Given the description of an element on the screen output the (x, y) to click on. 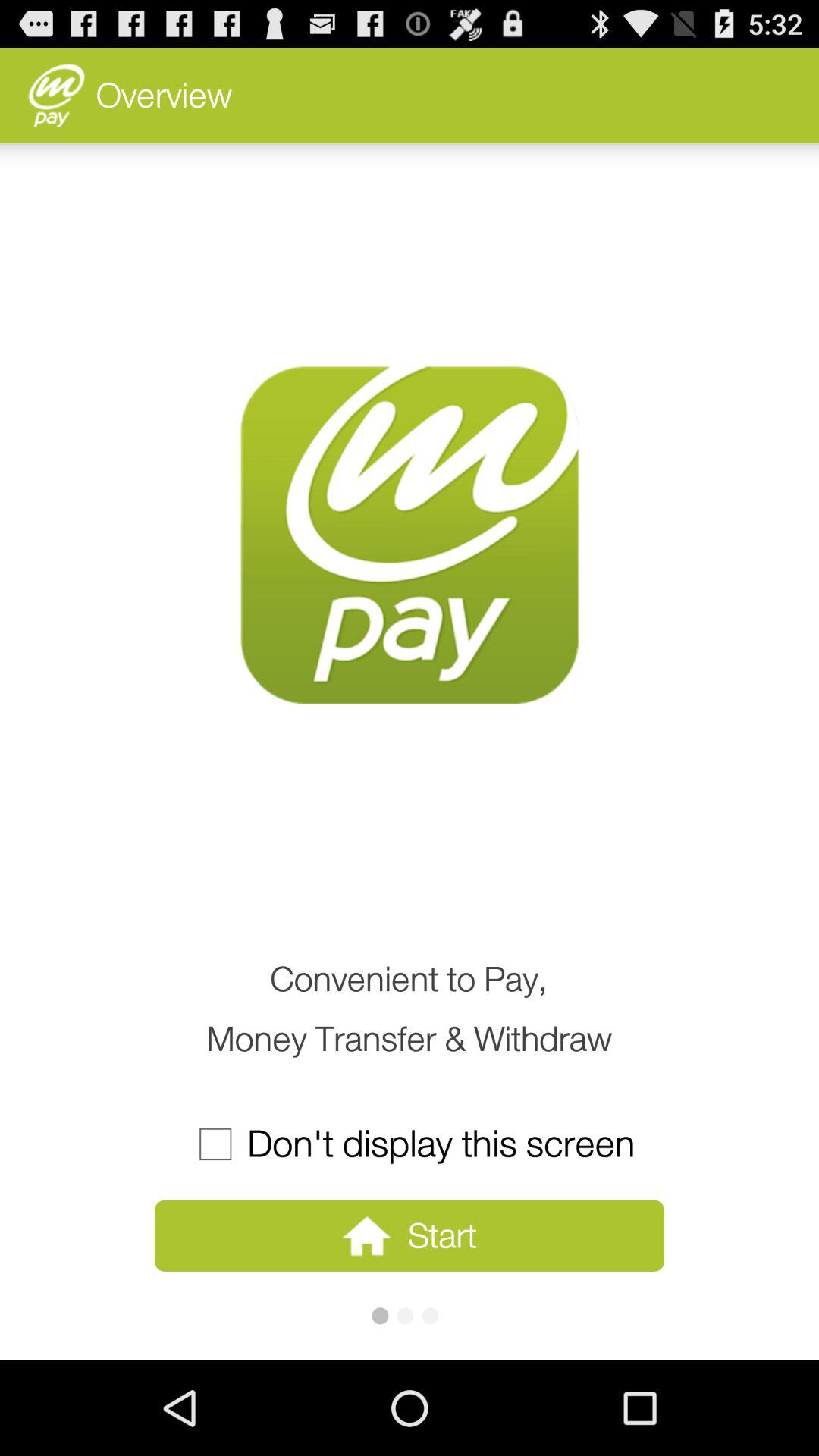
tap the don t display item (408, 1144)
